Given the description of an element on the screen output the (x, y) to click on. 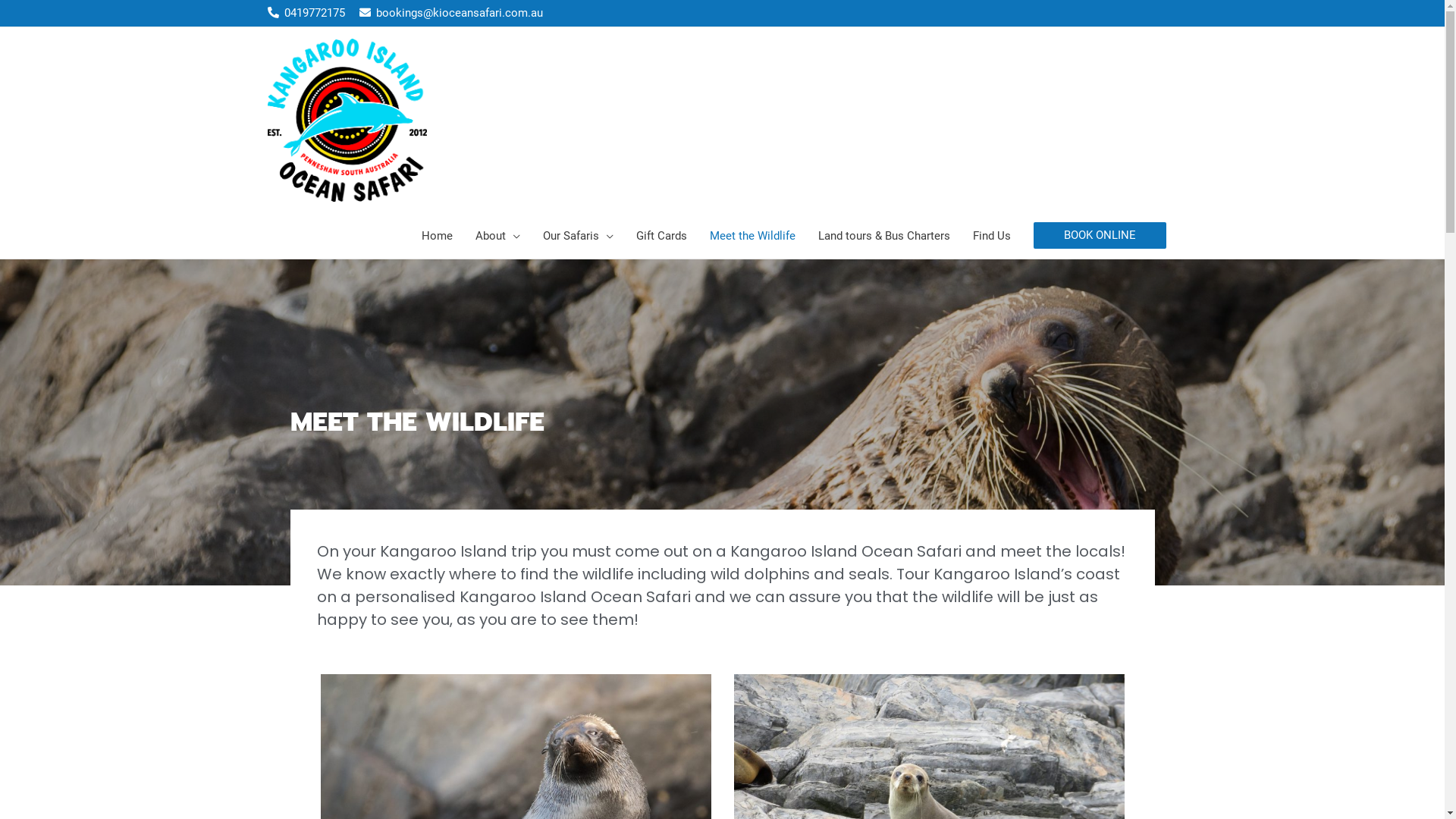
Land tours & Bus Charters Element type: text (883, 235)
Home Element type: text (436, 235)
About Element type: text (497, 235)
Gift Cards Element type: text (661, 235)
Find Us Element type: text (991, 235)
Our Safaris Element type: text (577, 235)
Meet the Wildlife Element type: text (751, 235)
BOOK ONLINE Element type: text (1098, 235)
